Given the description of an element on the screen output the (x, y) to click on. 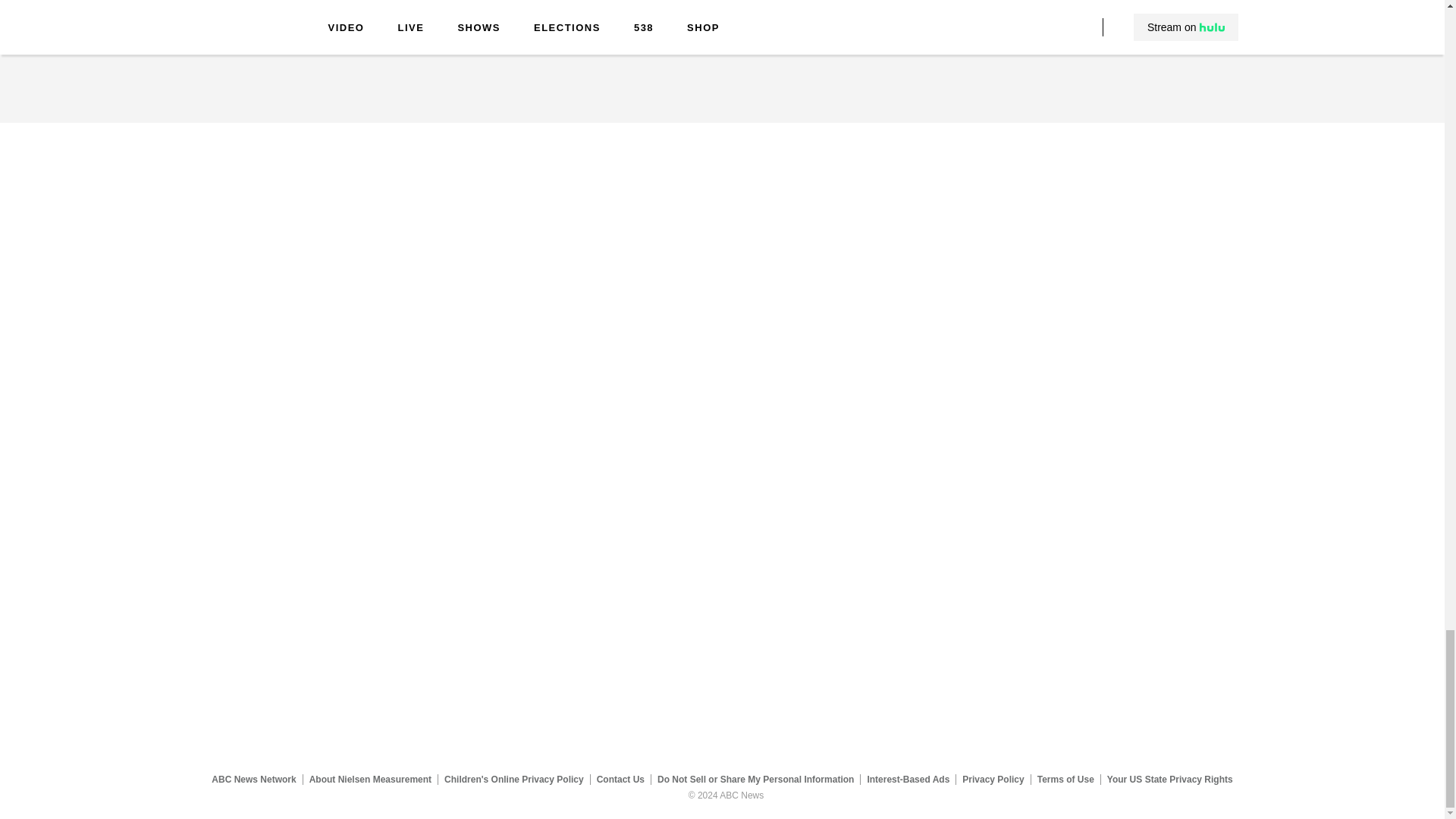
Your US State Privacy Rights (1169, 778)
ABC News Network (253, 778)
About Nielsen Measurement (370, 778)
Terms of Use (1065, 778)
Children's Online Privacy Policy (514, 778)
Contact Us (620, 778)
Interest-Based Ads (908, 778)
Do Not Sell or Share My Personal Information (755, 778)
Privacy Policy (993, 778)
